Given the description of an element on the screen output the (x, y) to click on. 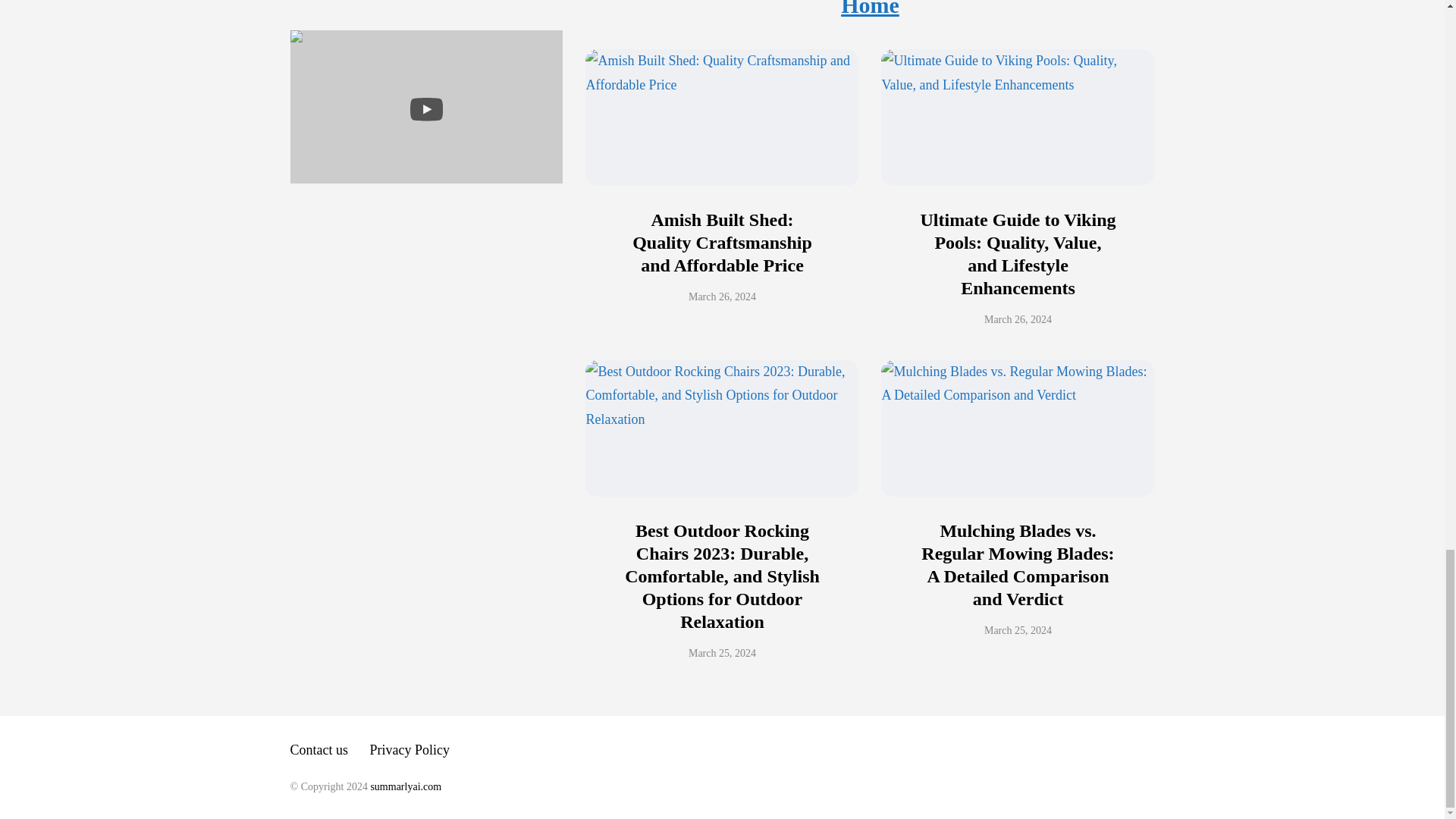
Amish Built Shed: Quality Craftsmanship and Affordable Price (721, 242)
Contact us (318, 749)
Privacy Policy (409, 749)
Home (870, 8)
